Given the description of an element on the screen output the (x, y) to click on. 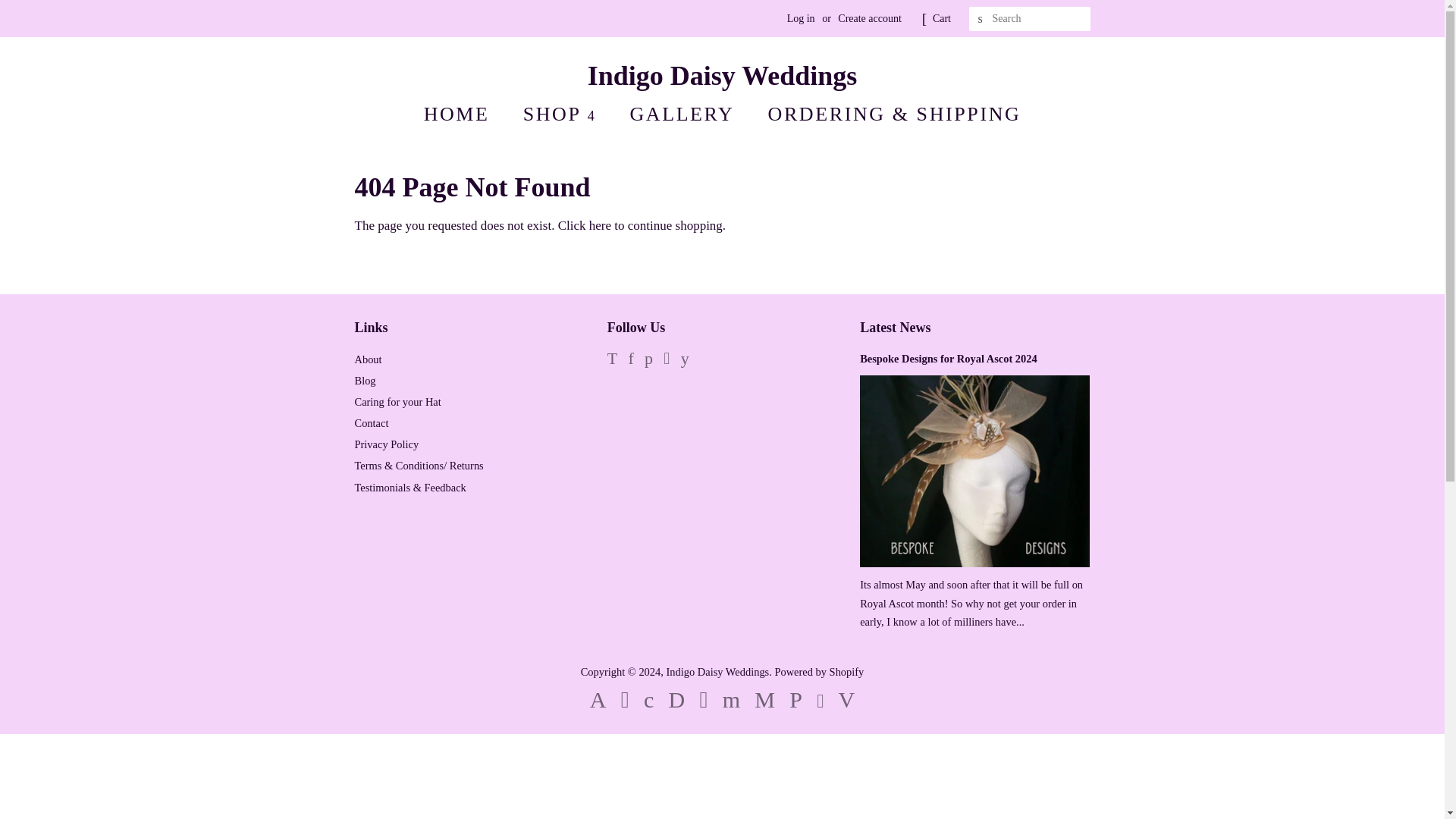
Create account (869, 18)
Log in (801, 18)
Indigo Daisy Weddings on Instagram (666, 359)
Cart (941, 18)
Indigo Daisy Weddings on Facebook (630, 359)
Indigo Daisy Weddings on YouTube (684, 359)
SEARCH (980, 18)
Indigo Daisy Weddings on Pinterest (648, 359)
Indigo Daisy Weddings on Twitter (612, 359)
